Given the description of an element on the screen output the (x, y) to click on. 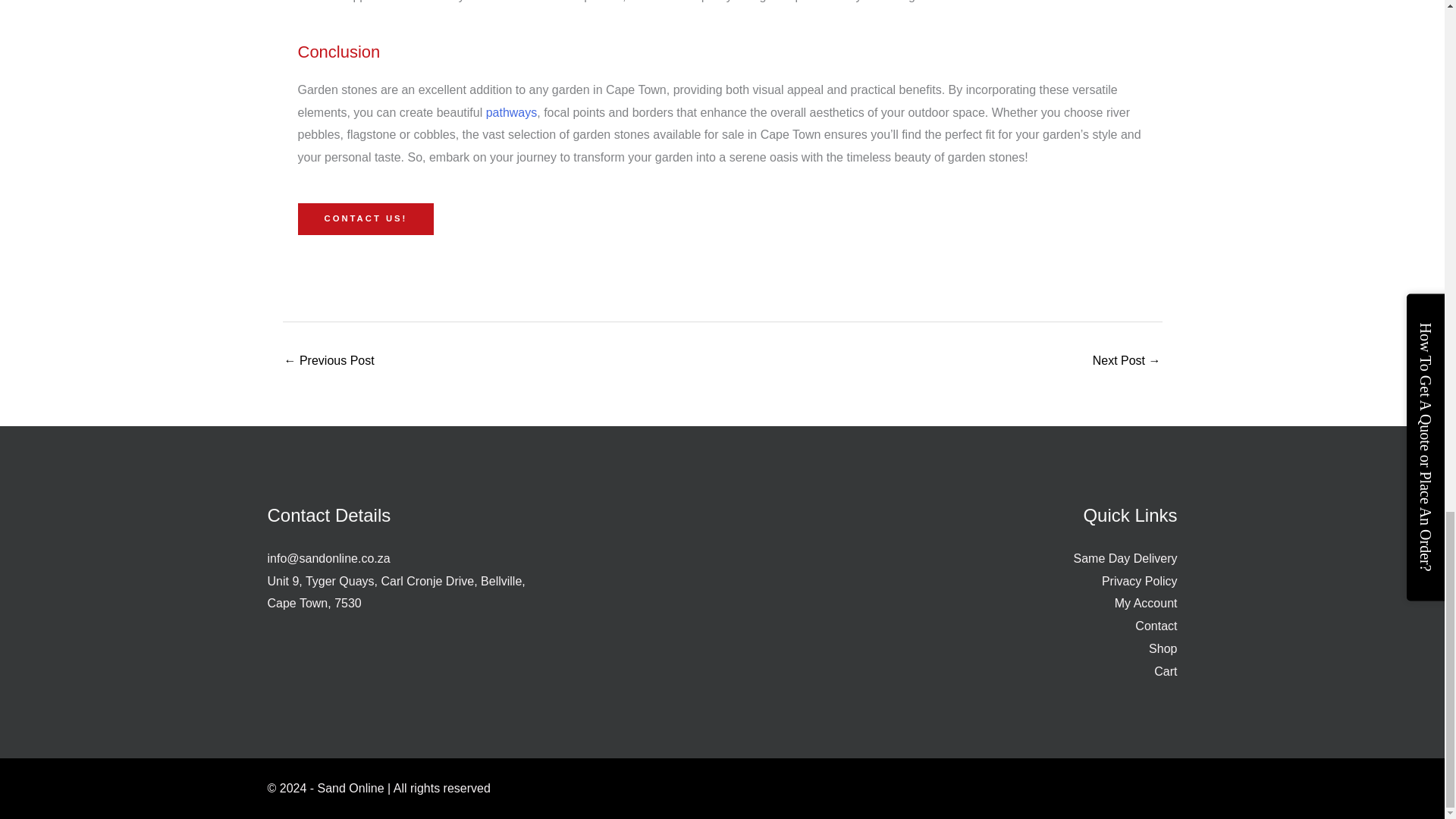
A Comprehensive Guide to Building Stone Driveway Pillars (328, 361)
CONTACT US! (365, 218)
pathways (511, 112)
